Given the description of an element on the screen output the (x, y) to click on. 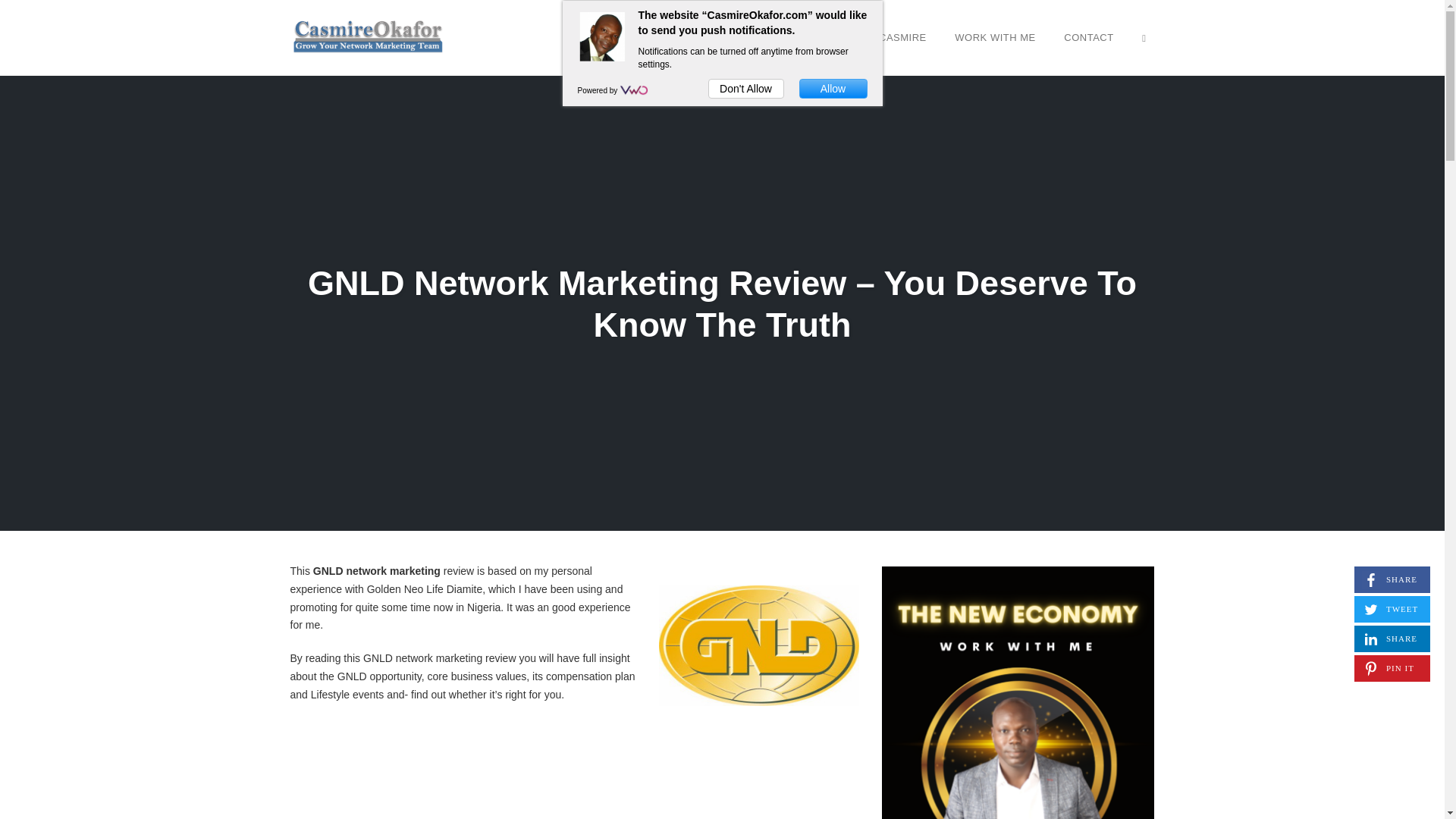
WORK WITH ME (994, 37)
HOME (795, 37)
ABOUT CASMIRE (882, 37)
OPEN SEARCH FORM (1391, 579)
Skip to content (1144, 37)
CONTACT (1391, 638)
